Given the description of an element on the screen output the (x, y) to click on. 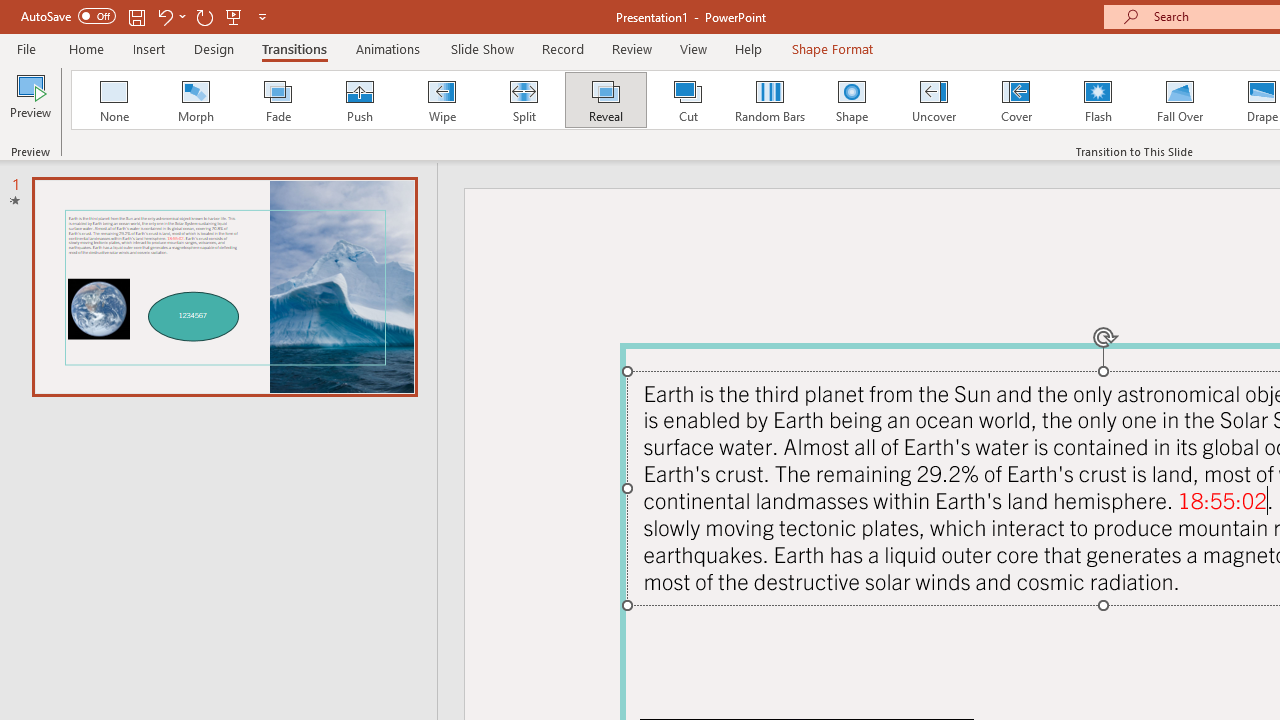
Reveal (605, 100)
Random Bars (770, 100)
